Given the description of an element on the screen output the (x, y) to click on. 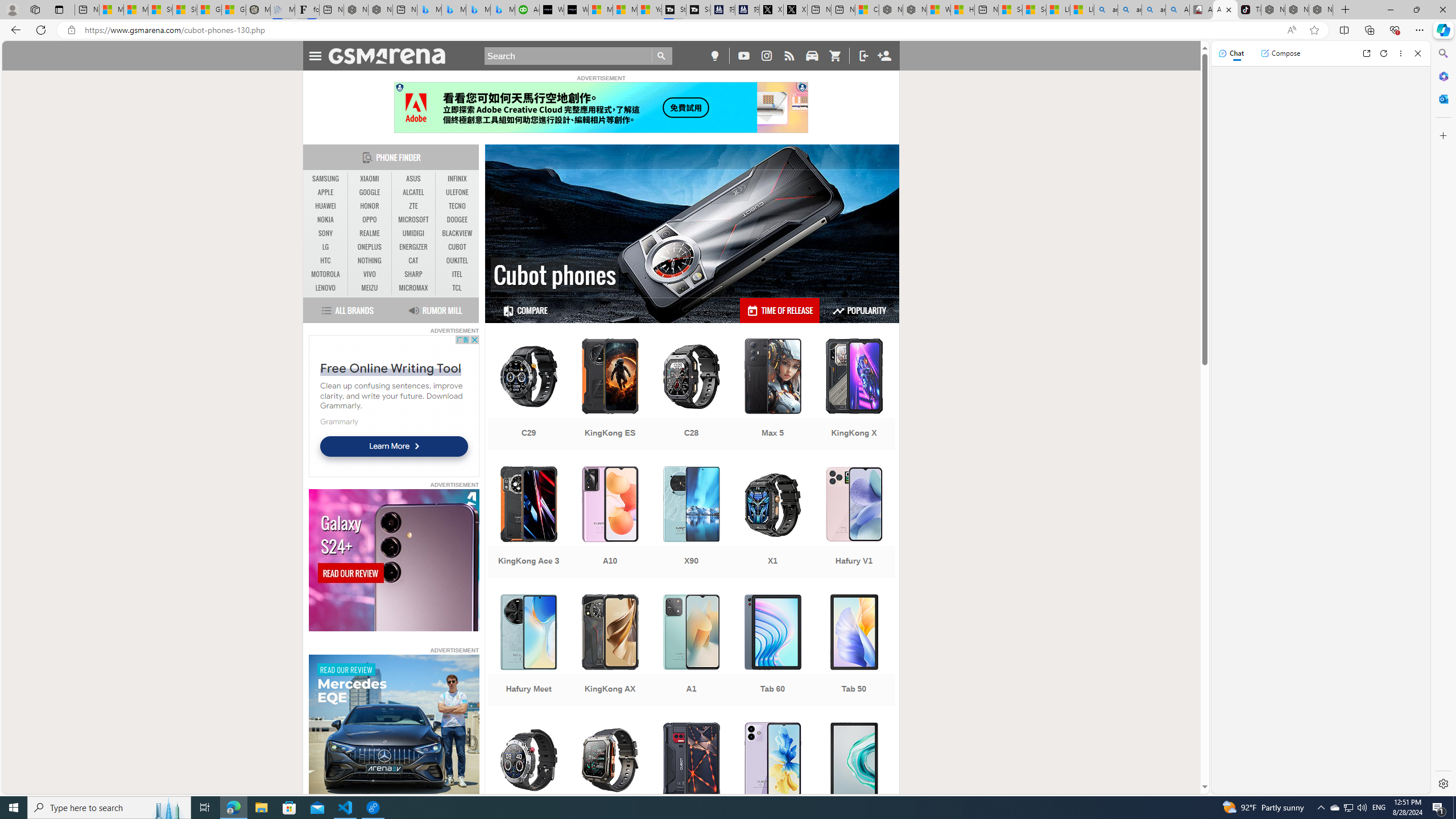
HUAWEI (325, 205)
DOOGEE (457, 219)
ASUS (413, 178)
MEIZU (369, 287)
Toggle Navigation (314, 53)
UMIDIGI (413, 233)
OUKITEL (457, 260)
APPLE (325, 192)
